Given the description of an element on the screen output the (x, y) to click on. 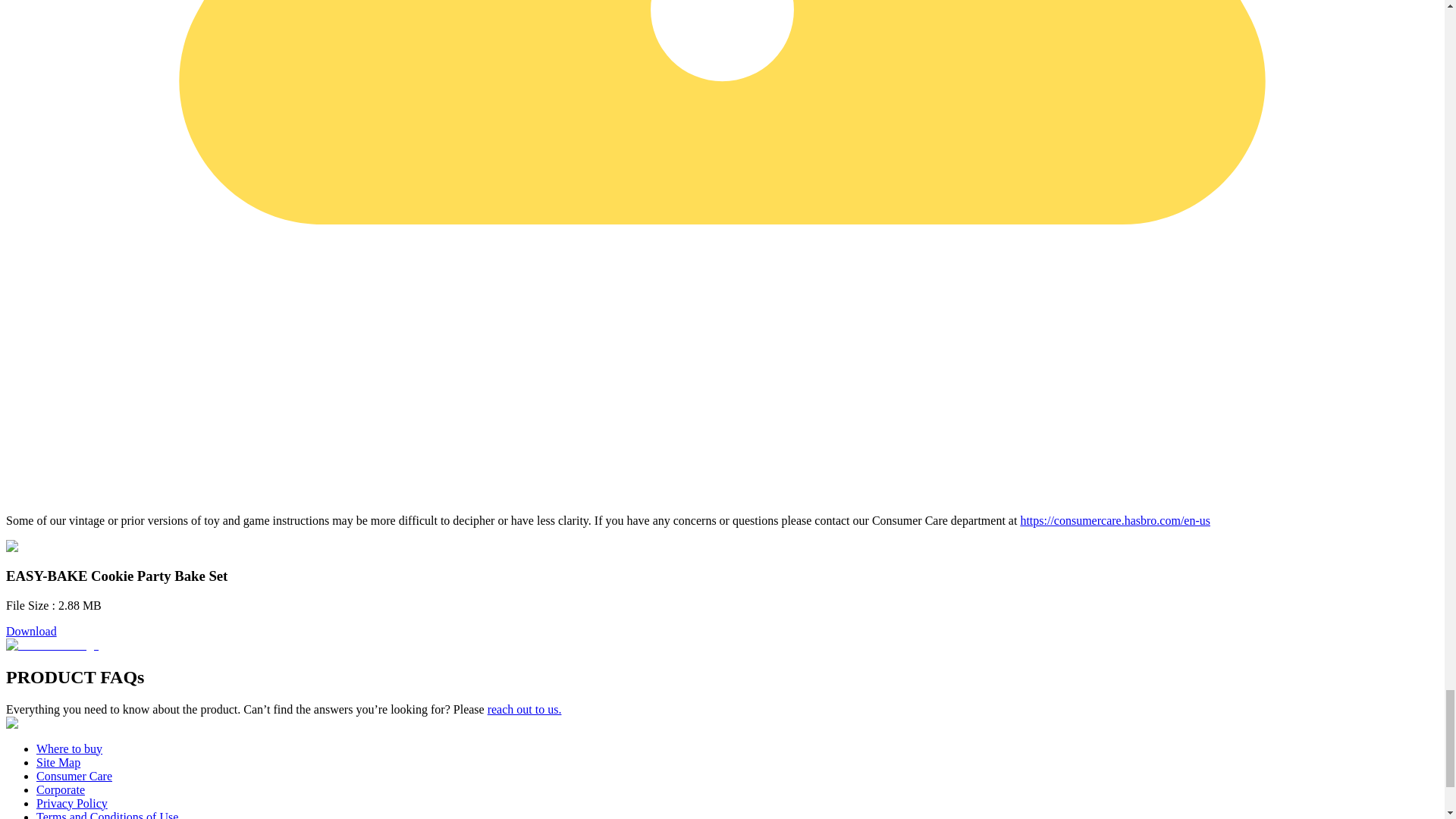
Privacy Policy (71, 802)
reach out to us. (524, 708)
Corporate (60, 789)
Consumer Care (74, 775)
Where to buy (68, 748)
Site Map (58, 762)
Terms and Conditions of Use (106, 814)
